Given the description of an element on the screen output the (x, y) to click on. 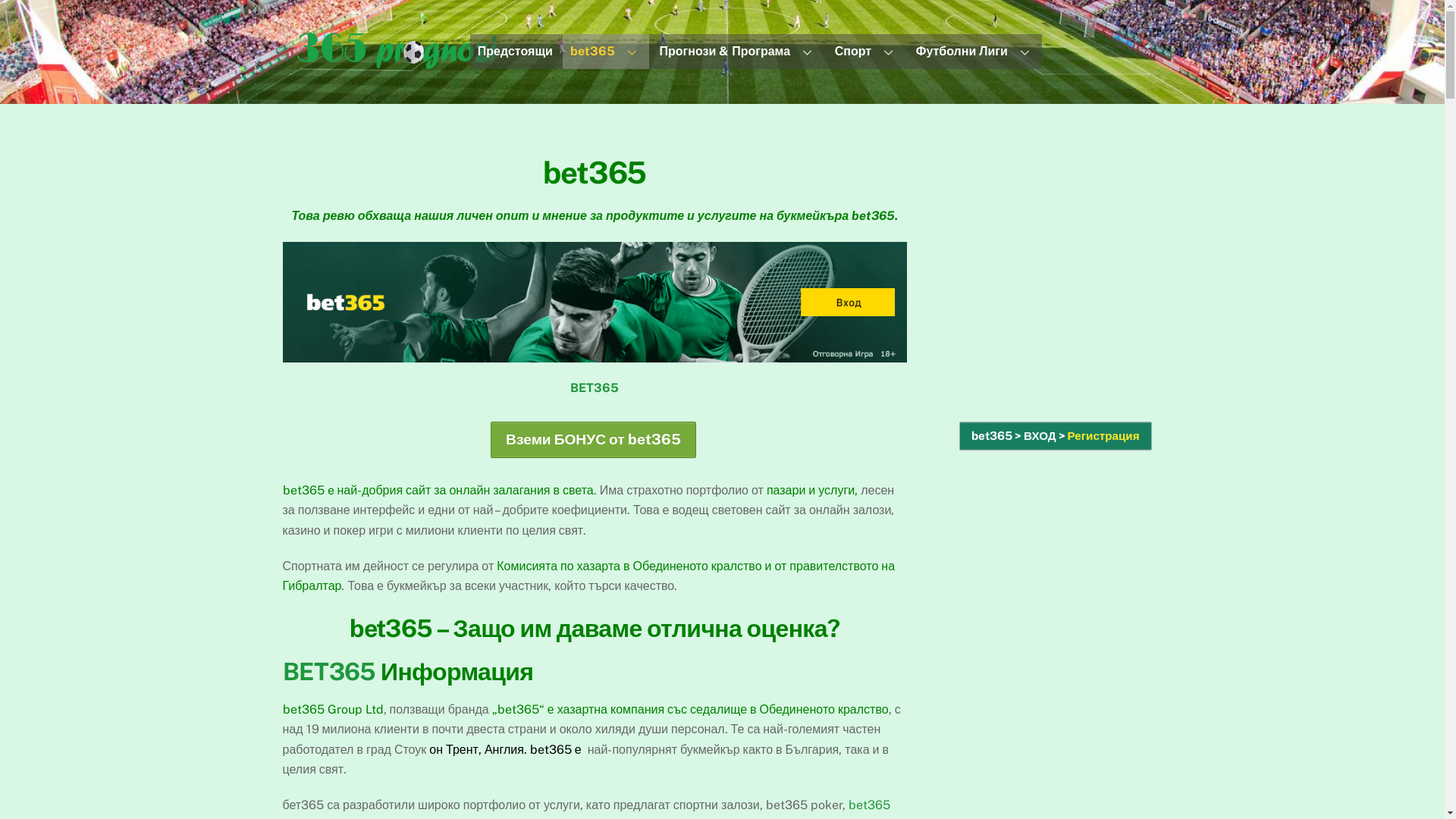
bet365 Element type: text (605, 51)
BET365 Element type: text (328, 671)
365prognozi-logo2 Element type: hover (395, 48)
BET365 Element type: text (594, 387)
